Given the description of an element on the screen output the (x, y) to click on. 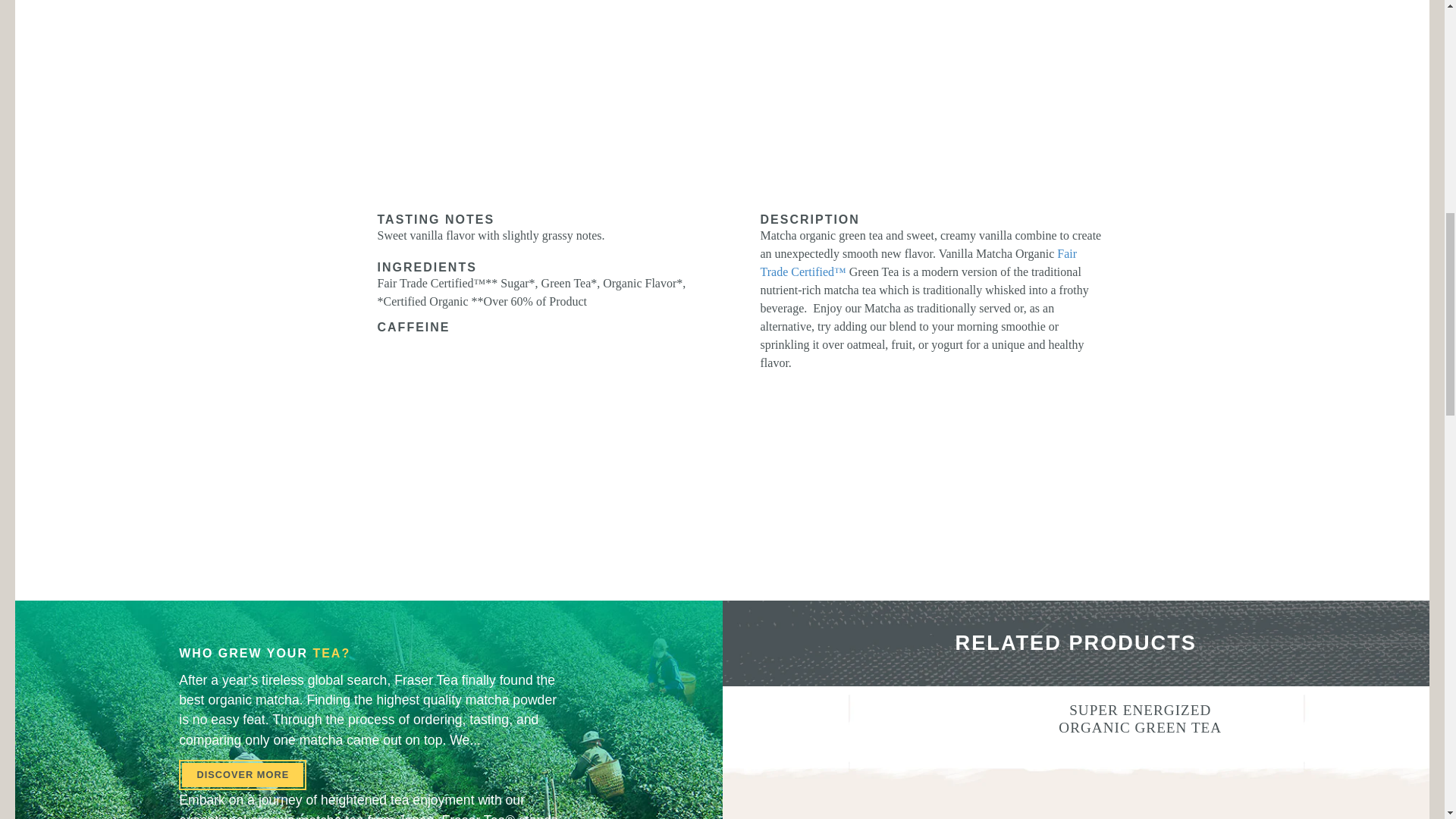
Fair Trade Certified (918, 262)
